Given the description of an element on the screen output the (x, y) to click on. 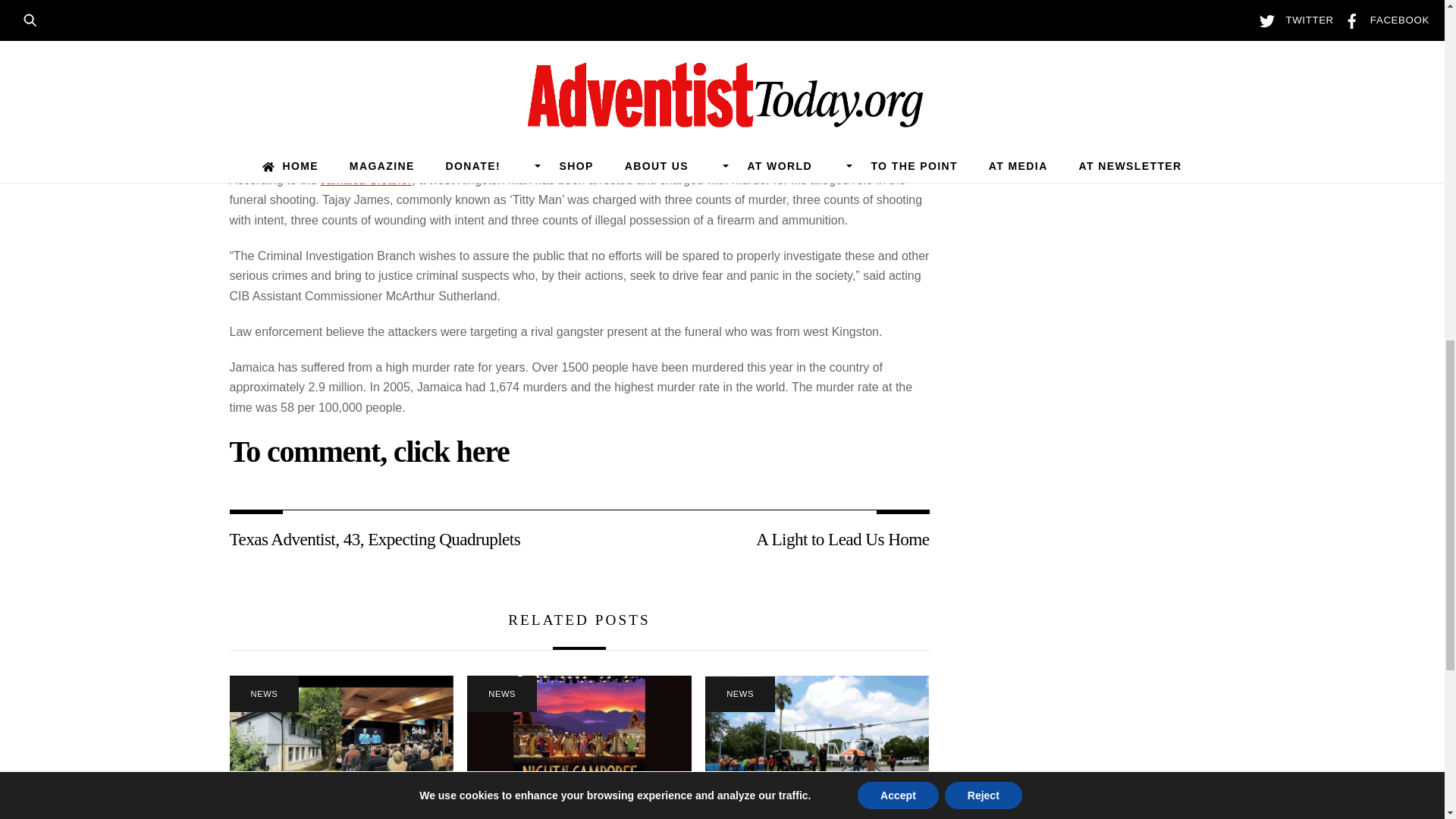
Jamaica Gleaner (366, 179)
threatened (289, 123)
A Light to Lead Us Home (764, 539)
NEWS (263, 693)
07.11.24 News Briefs (340, 734)
07.09.24 Montemorelos Helps After Alberto (816, 734)
Texas Adventist, 43, Expecting Quadruplets (392, 539)
To comment, click here (368, 451)
07.10.24 Night at the Camporee (578, 734)
